Given the description of an element on the screen output the (x, y) to click on. 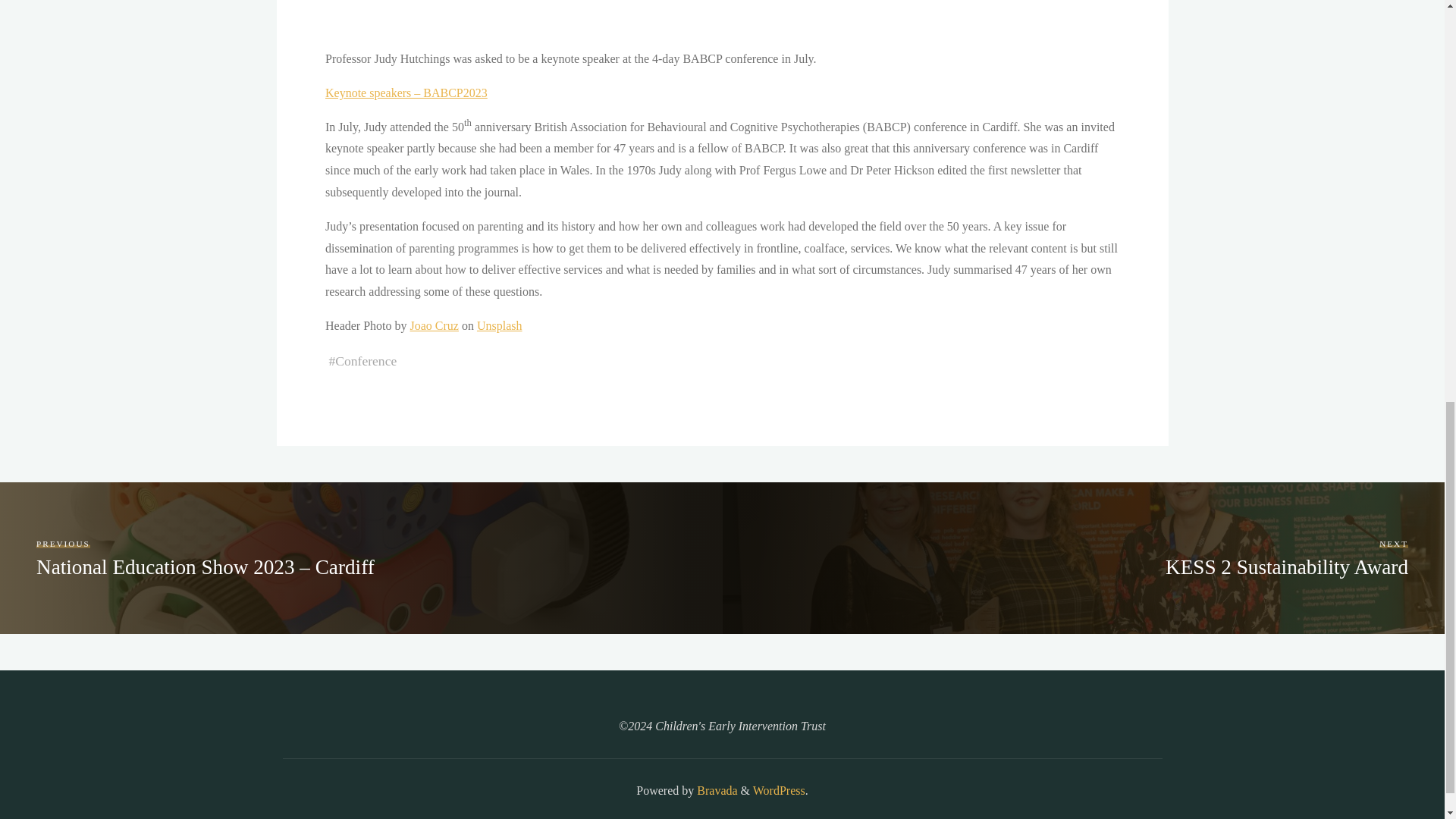
Unsplash (498, 325)
Bravada WordPress Theme by Cryout Creations (715, 789)
Joao Cruz (433, 325)
